Given the description of an element on the screen output the (x, y) to click on. 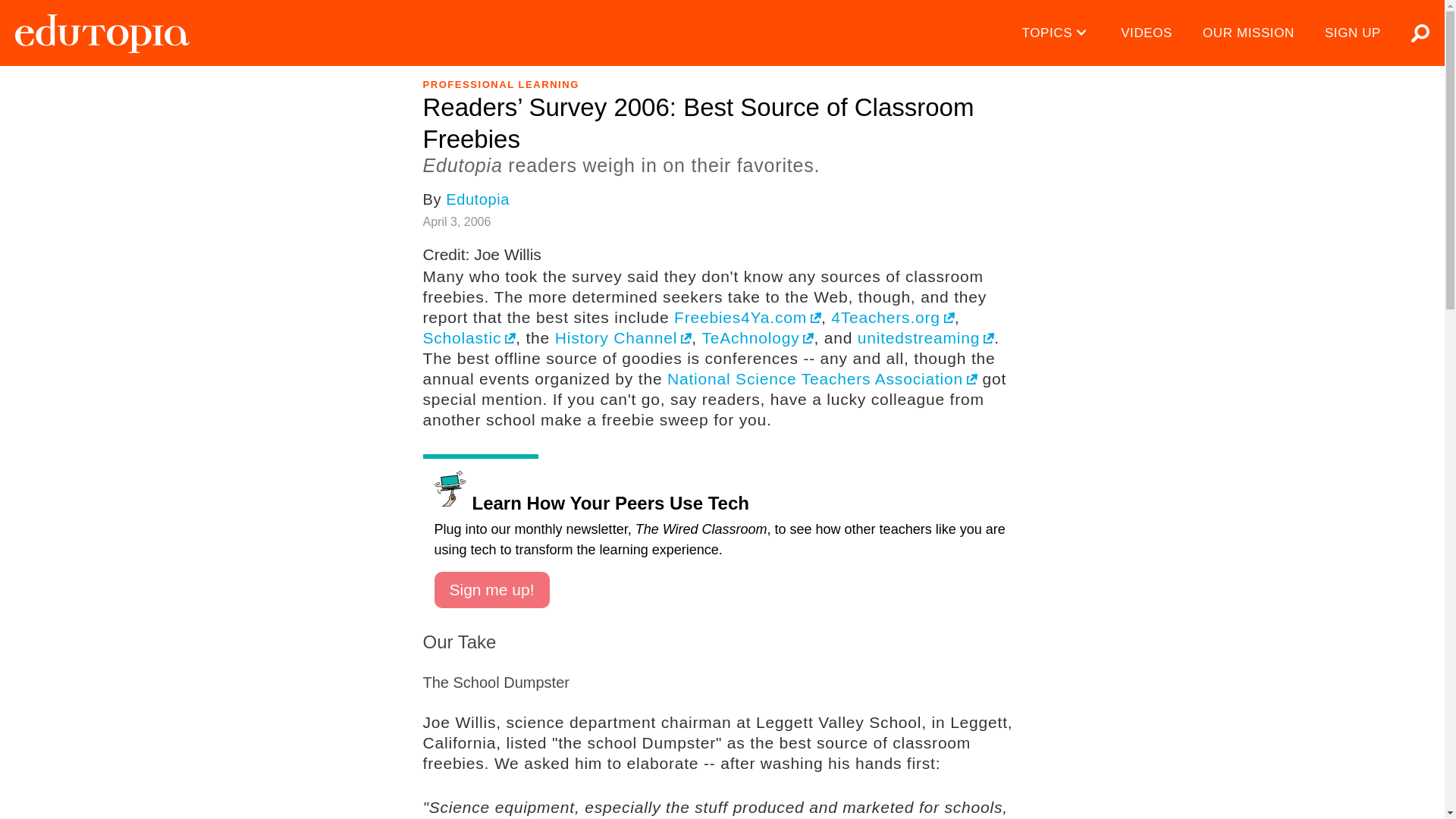
Edutopia (477, 199)
National Science Teachers Association (821, 378)
Freebies4Ya.com (747, 316)
VIDEOS (1146, 33)
TOPICS (1056, 33)
History Channel (622, 337)
OUR MISSION (1248, 33)
Edutopia (101, 33)
TeAchnology (757, 337)
unitedstreaming (925, 337)
